Given the description of an element on the screen output the (x, y) to click on. 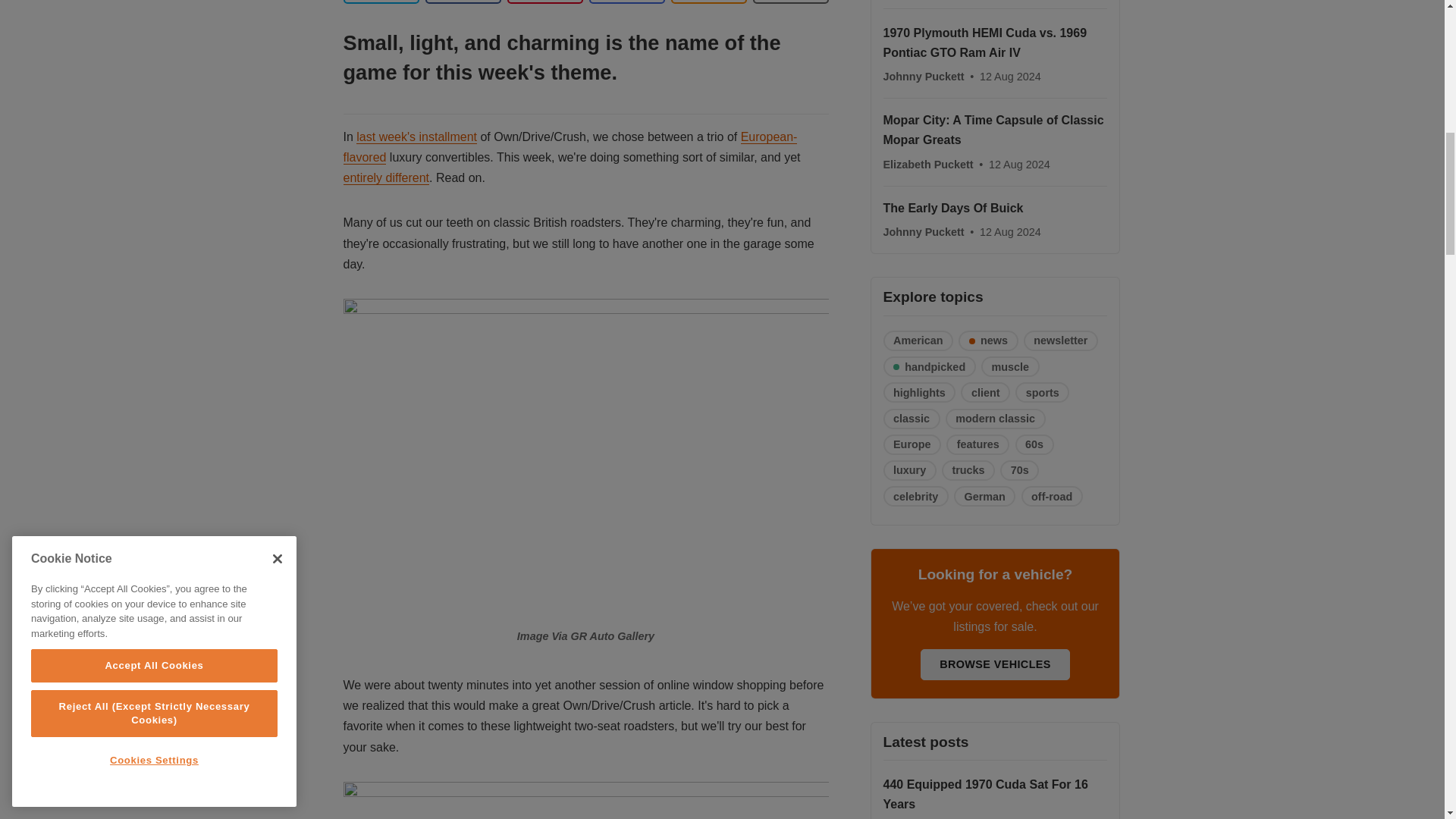
Share on Facebook (462, 1)
entirely different (385, 178)
Share by email (625, 1)
Bookmark (790, 1)
Johnny Puckett (924, 232)
last week's installment (416, 137)
Copy to clipboard (707, 1)
American (917, 340)
Share on Twitter (380, 1)
Johnny Puckett (924, 76)
